Given the description of an element on the screen output the (x, y) to click on. 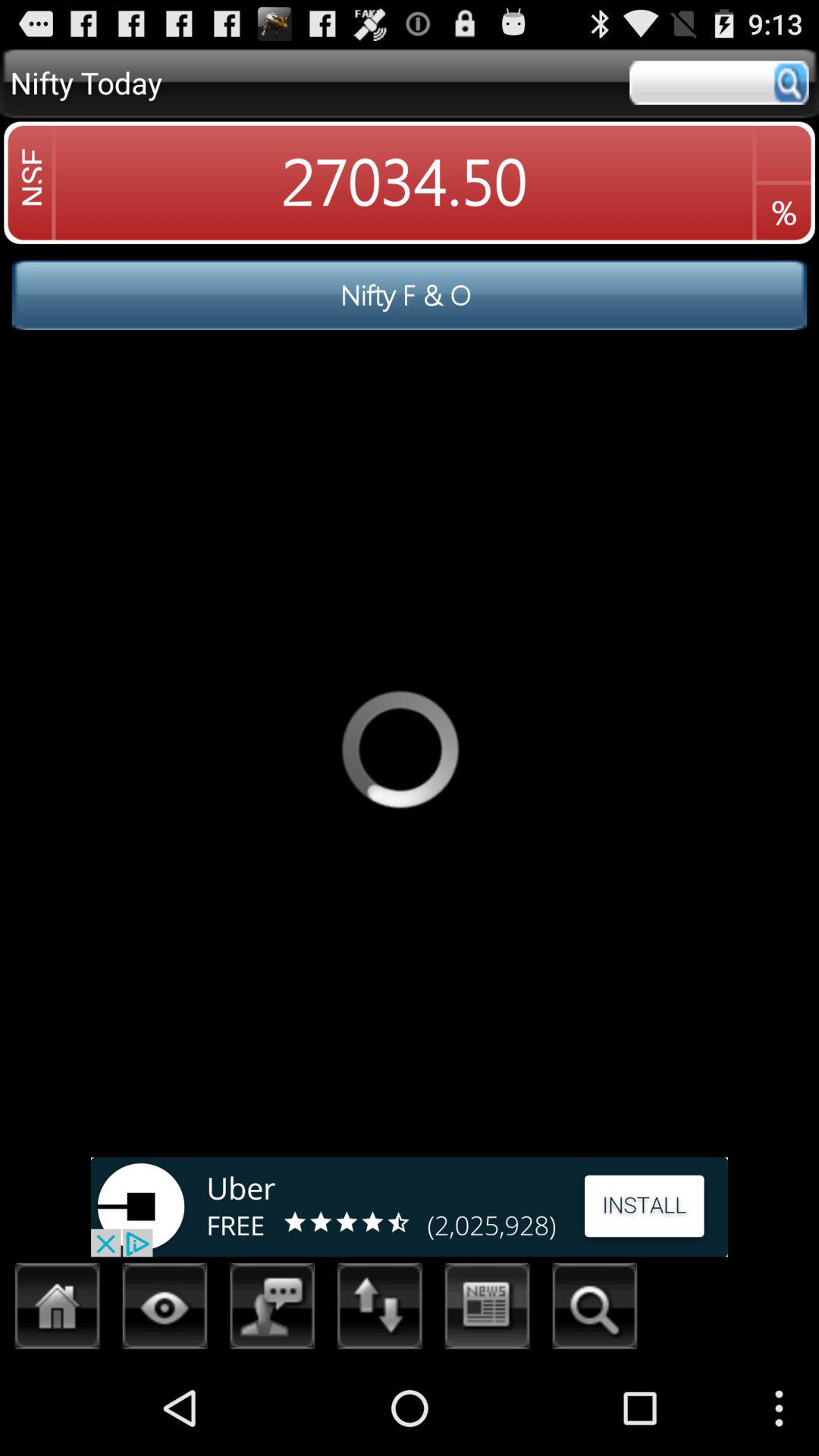
go to the messages (272, 1310)
